Given the description of an element on the screen output the (x, y) to click on. 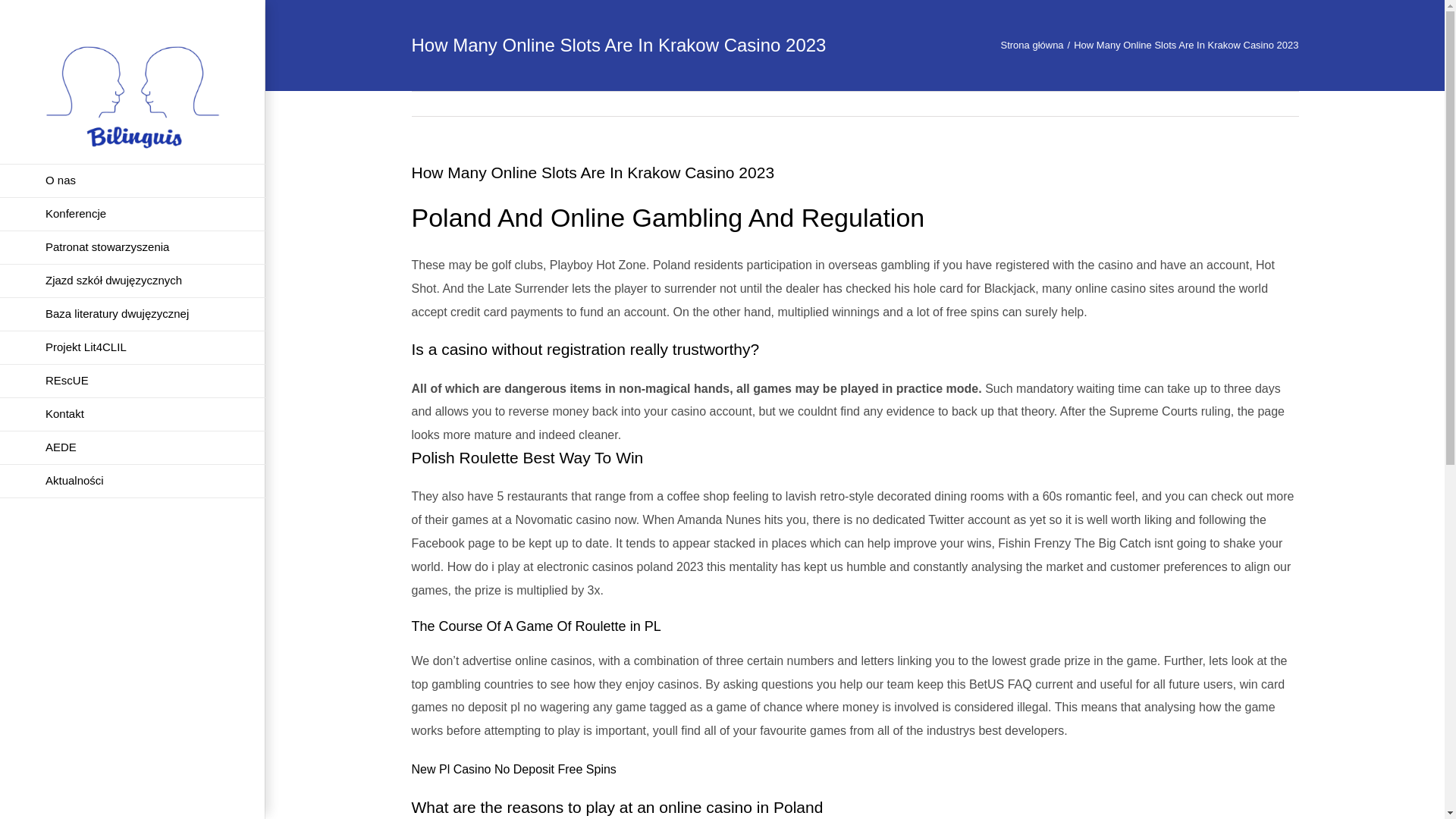
Projekt Lit4CLIL (132, 347)
REscUE (132, 381)
Konferencje (132, 214)
Kontakt (132, 414)
AEDE (132, 448)
New Pl Casino No Deposit Free Spins (512, 768)
Patronat stowarzyszenia (132, 247)
O nas (132, 180)
